Given the description of an element on the screen output the (x, y) to click on. 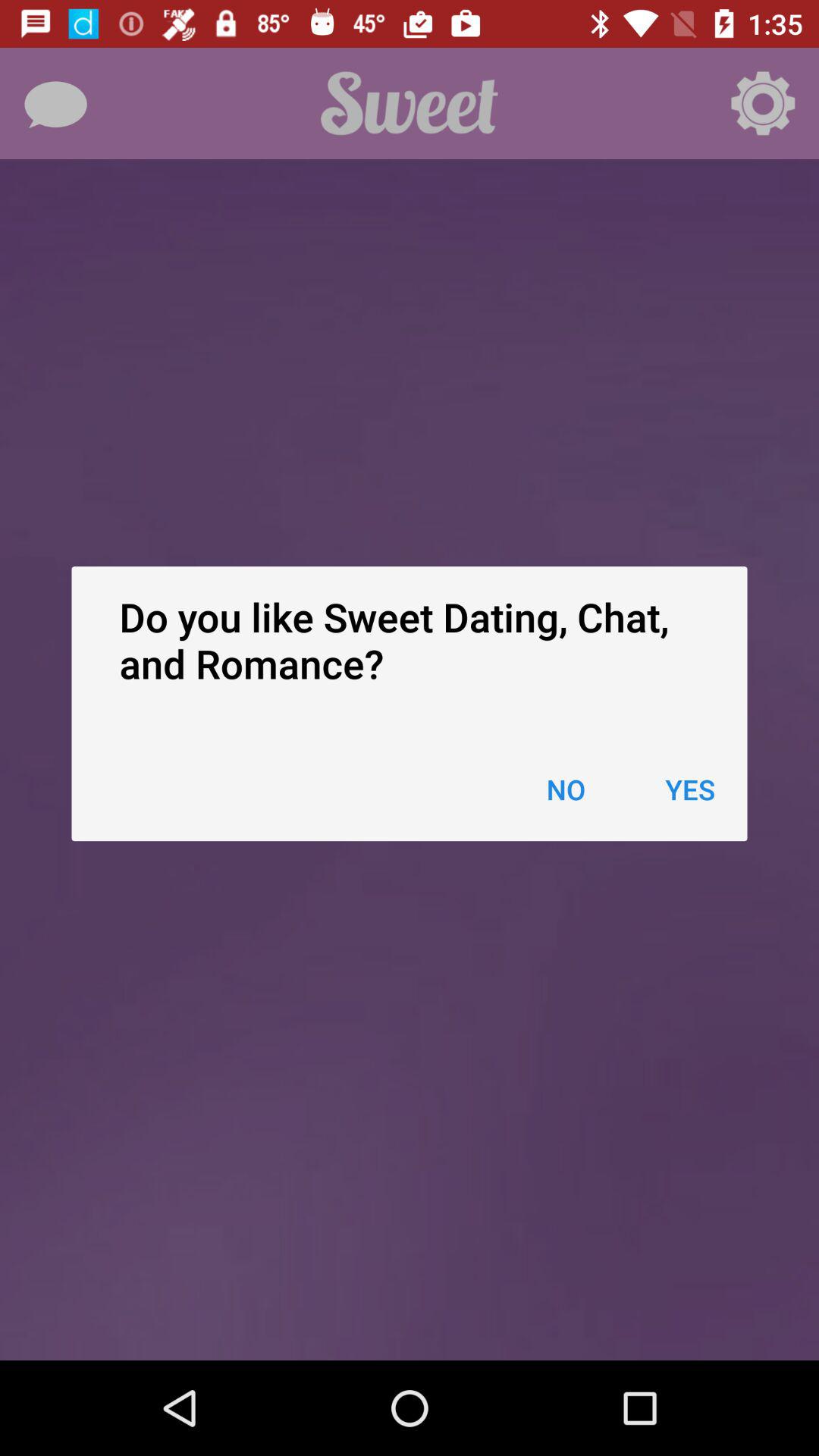
open no (565, 789)
